Given the description of an element on the screen output the (x, y) to click on. 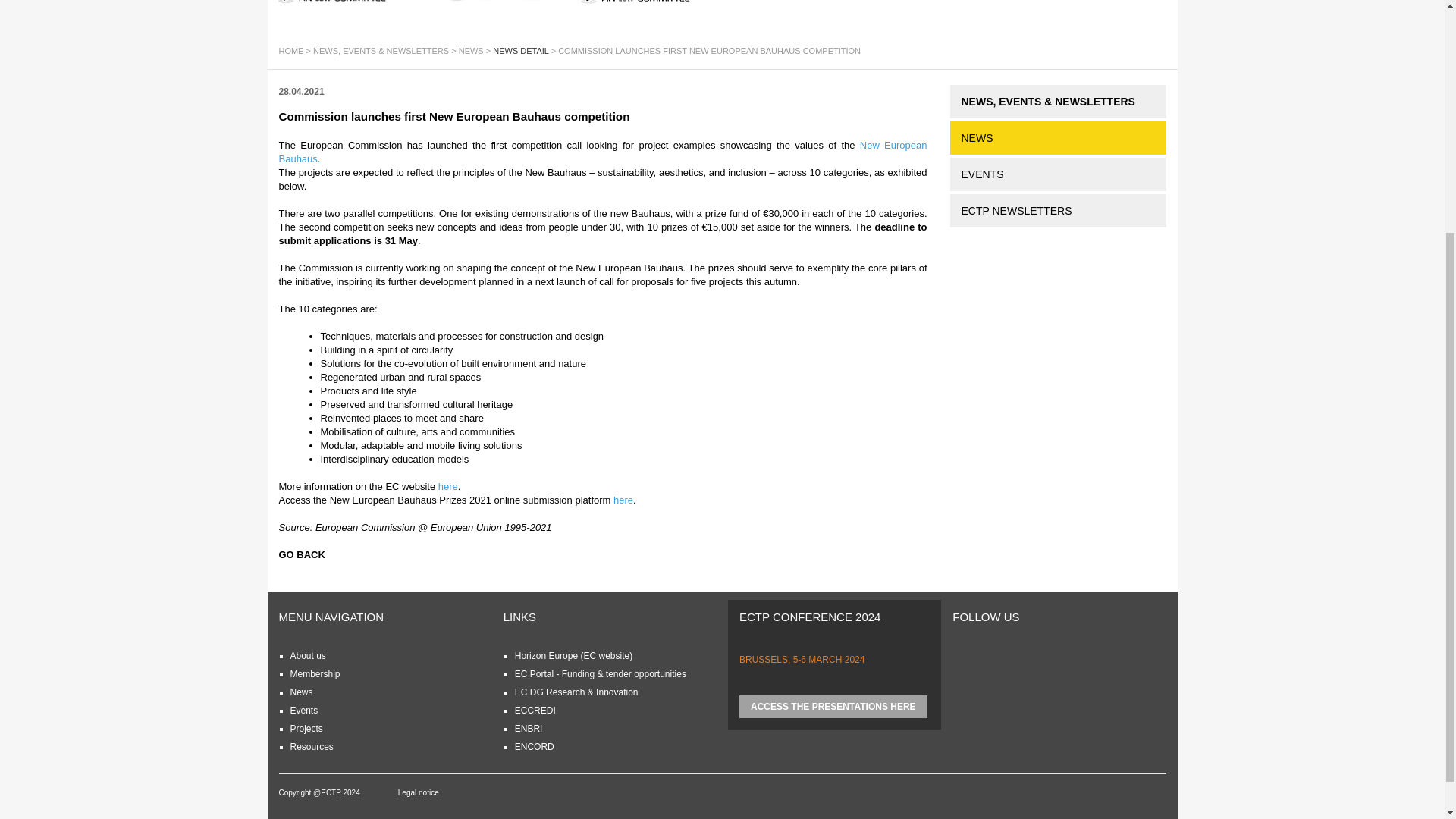
Opens internal link in current window (314, 674)
Built for Life (488, 3)
HOME (291, 50)
Opens internal link in current window (306, 655)
Home (291, 50)
Opens external link in new window (622, 500)
Digital Built Environment (646, 5)
Built Environment Decarbonisation (342, 5)
Opens external link in new window (603, 151)
News (470, 50)
Opens external link in new window (448, 486)
